Given the description of an element on the screen output the (x, y) to click on. 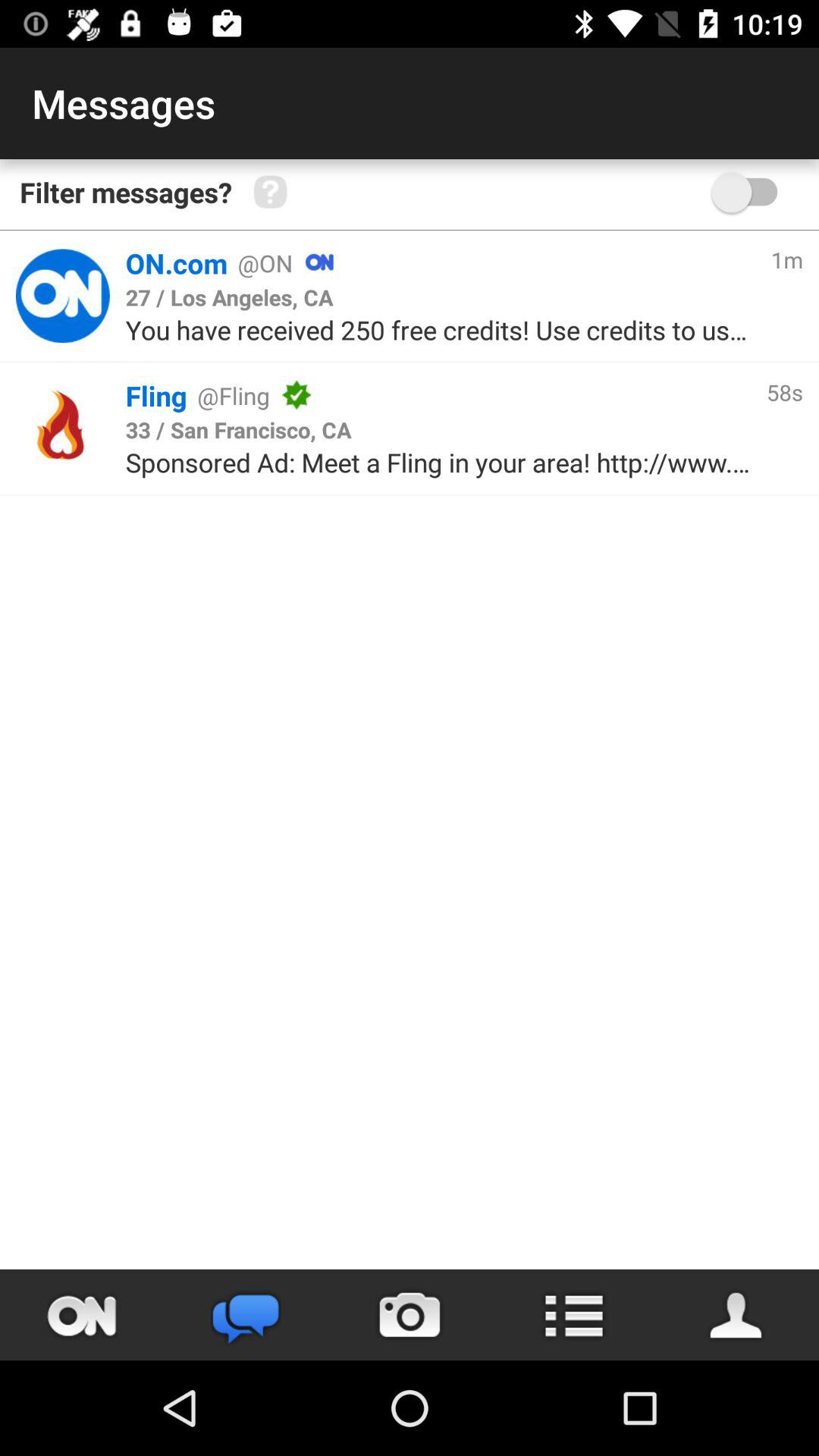
open photo (409, 1315)
